Given the description of an element on the screen output the (x, y) to click on. 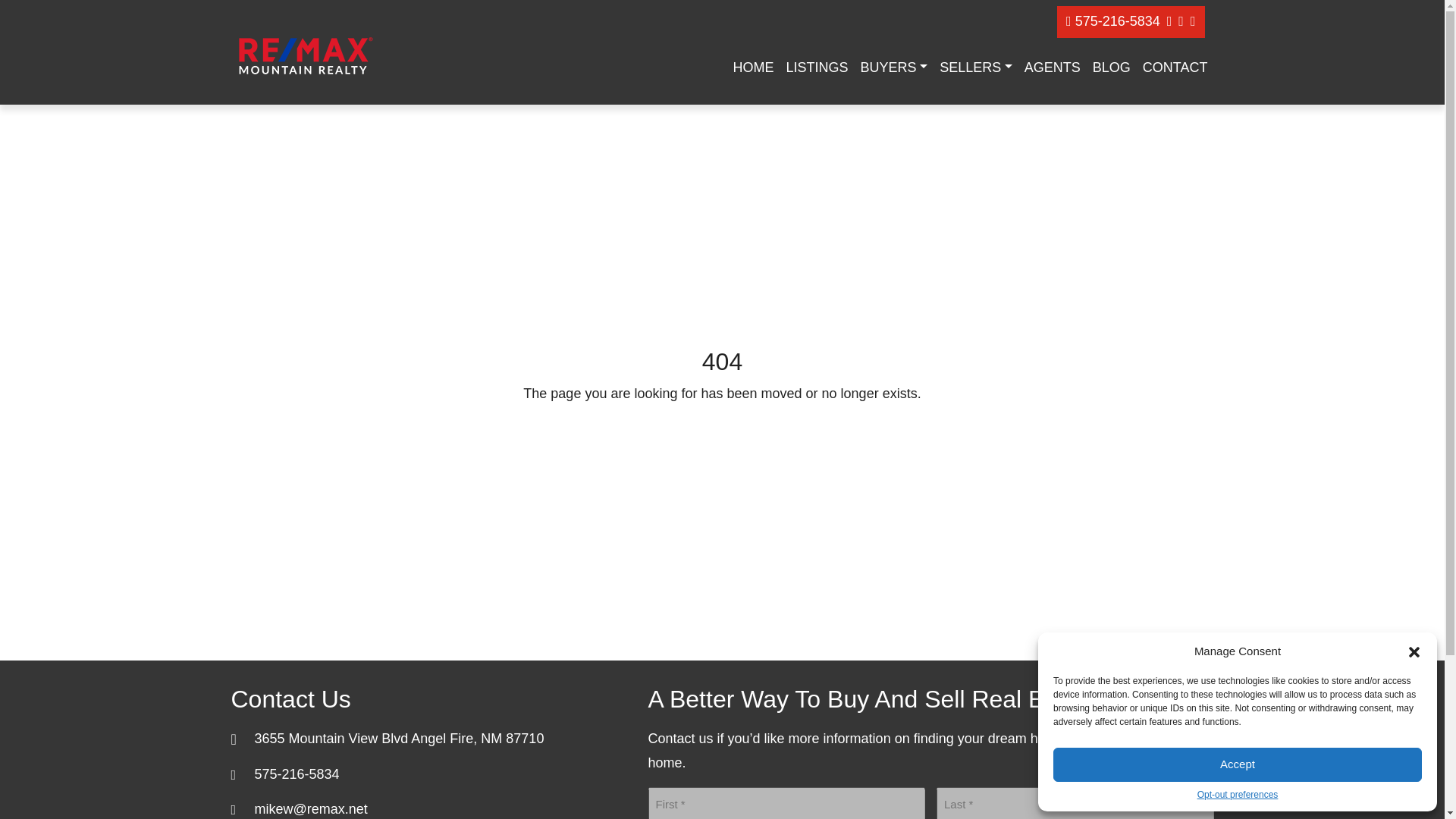
HOME (753, 67)
Opt-out preferences (1237, 794)
575-216-5834 (1115, 20)
SELLERS (975, 67)
Accept (1237, 764)
BLOG (1111, 67)
AGENTS (1051, 67)
CONTACT (1175, 67)
BUYERS (894, 67)
LISTINGS (817, 67)
